Given the description of an element on the screen output the (x, y) to click on. 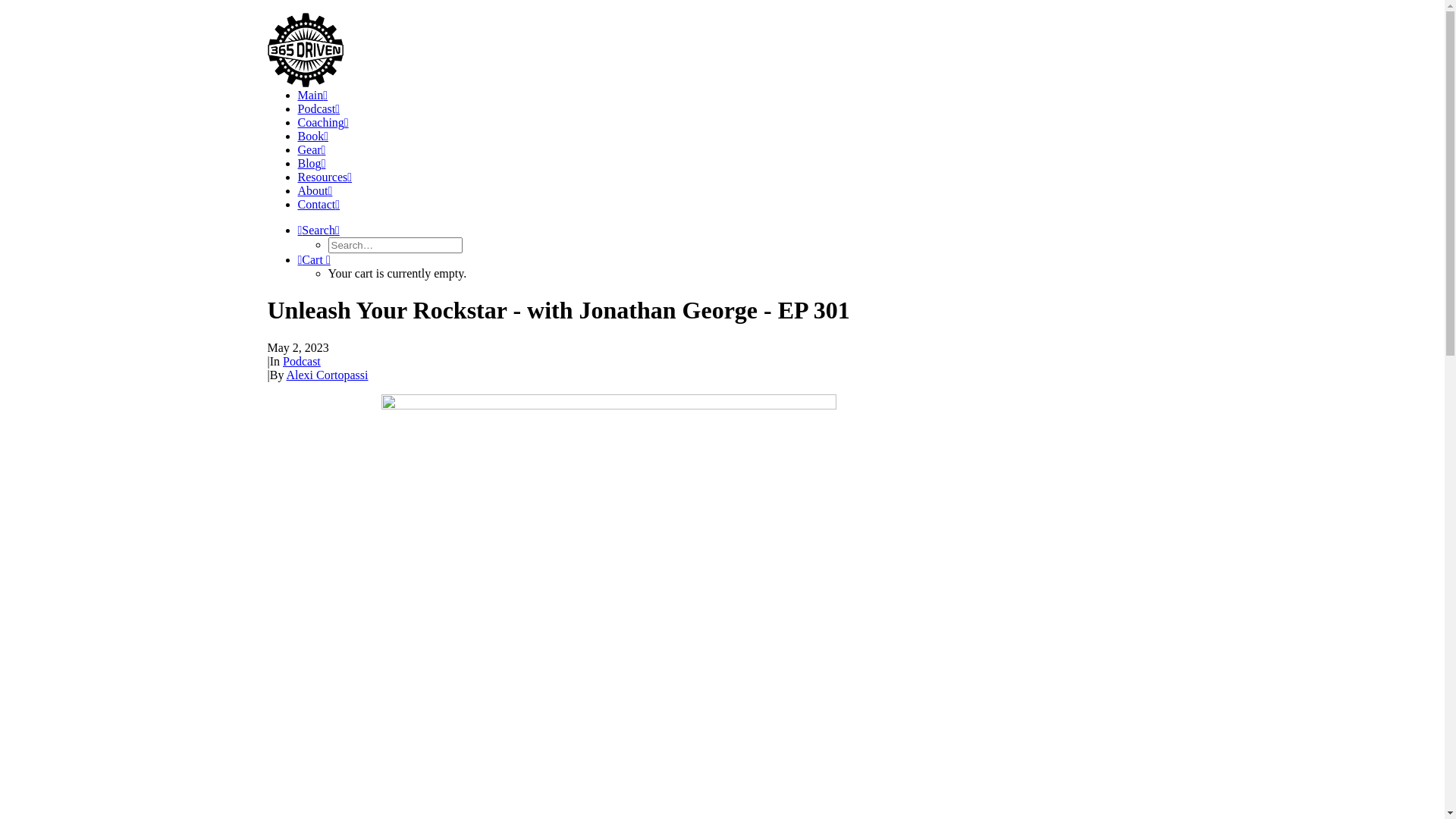
Search Element type: text (317, 229)
Podcast Element type: text (318, 108)
Book Element type: text (312, 135)
Contact Element type: text (318, 203)
Coaching Element type: text (322, 122)
Gear Element type: text (311, 149)
Cart Element type: text (313, 259)
Alexi Cortopassi Element type: text (327, 374)
Blog Element type: text (311, 162)
Resources Element type: text (324, 176)
Main Element type: text (312, 94)
About Element type: text (314, 190)
Podcast Element type: text (301, 360)
